Given the description of an element on the screen output the (x, y) to click on. 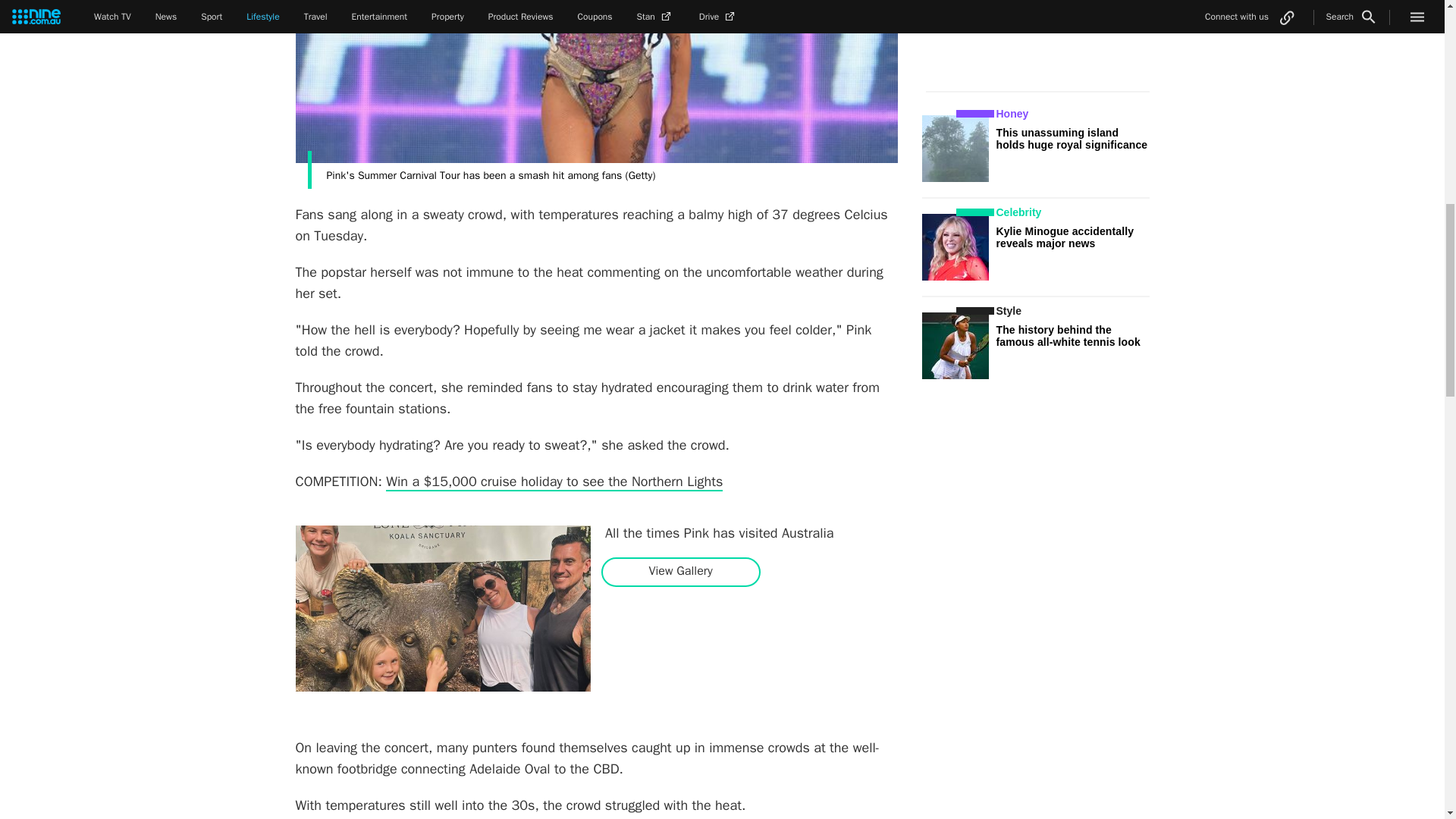
View Gallery (680, 571)
